Given the description of an element on the screen output the (x, y) to click on. 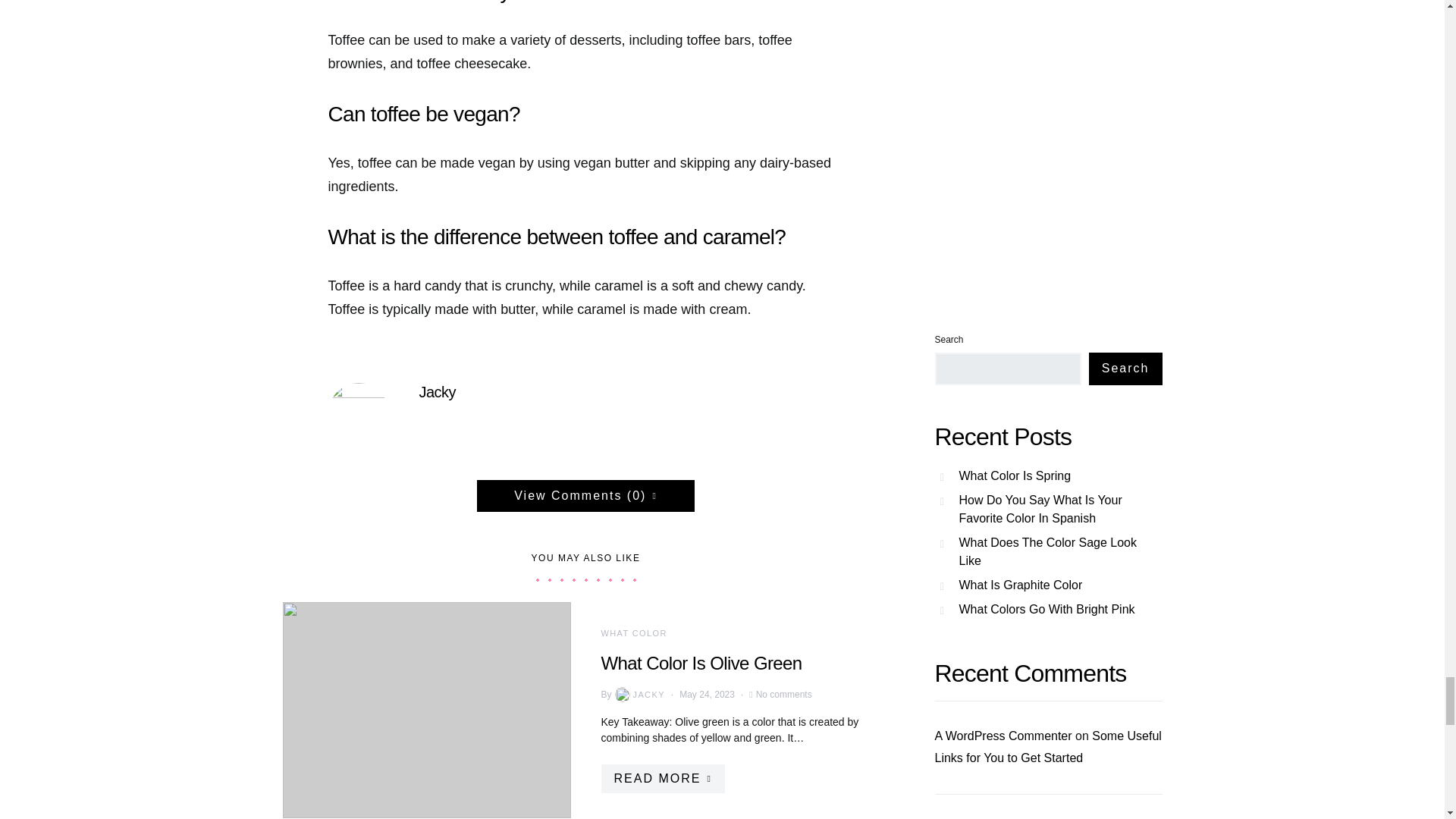
JACKY (638, 694)
READ MORE (661, 778)
View all posts by Jacky (638, 694)
What Color Is Olive Green (700, 662)
No comments (783, 694)
Jacky (437, 392)
WHAT COLOR (632, 633)
